Given the description of an element on the screen output the (x, y) to click on. 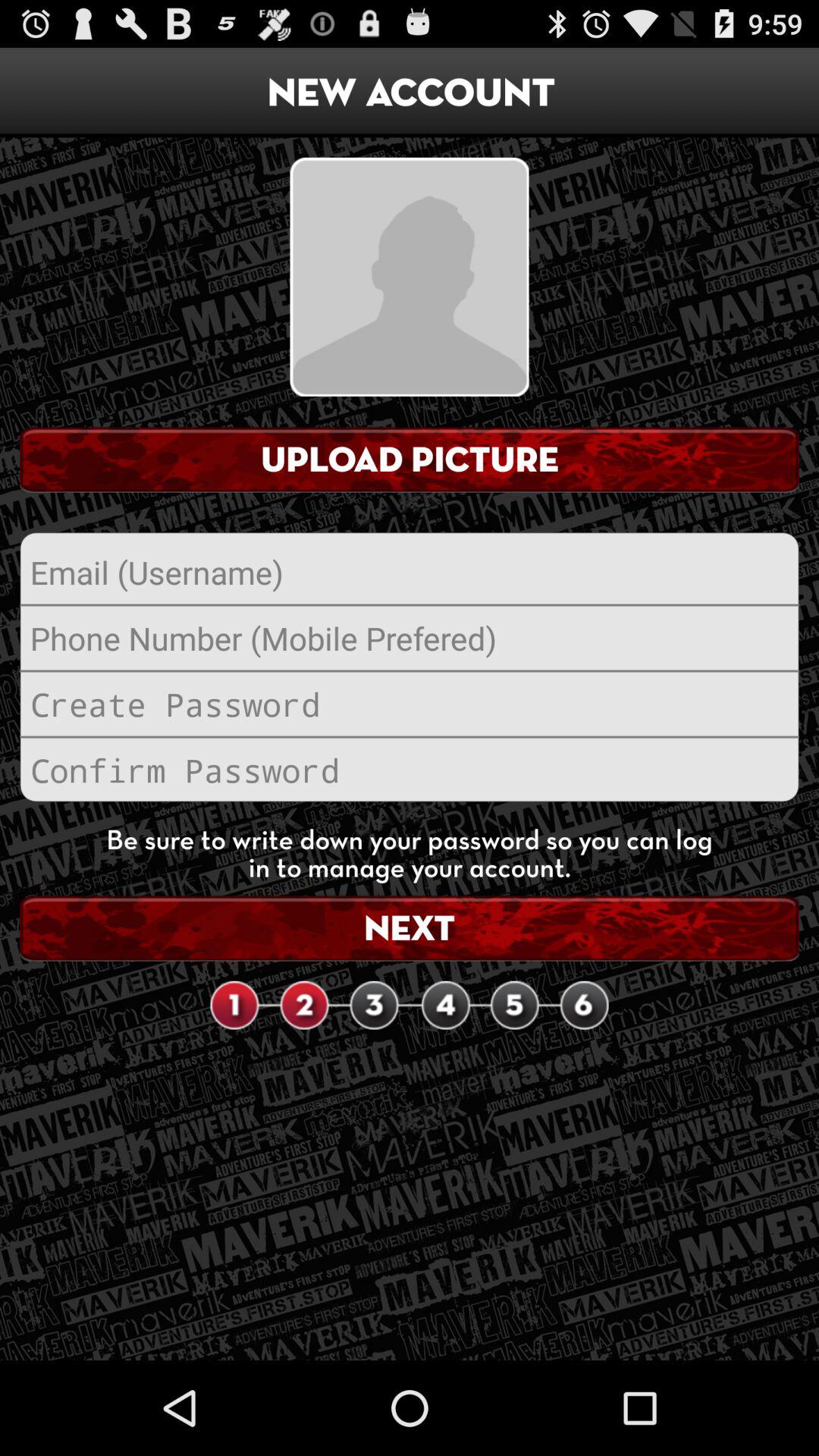
choose the item above upload picture item (409, 276)
